Given the description of an element on the screen output the (x, y) to click on. 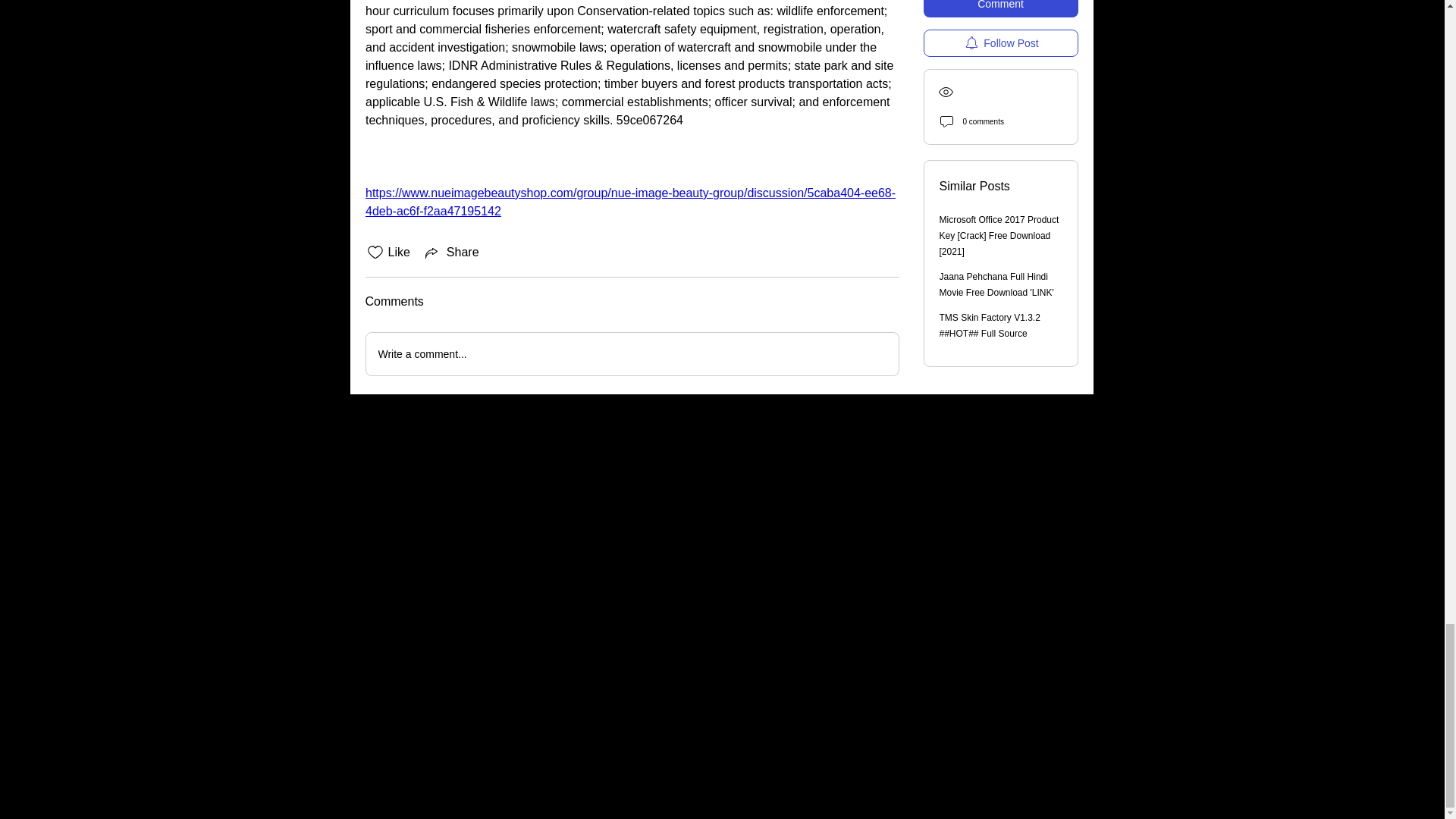
Write a comment... (631, 353)
Share (450, 252)
